Given the description of an element on the screen output the (x, y) to click on. 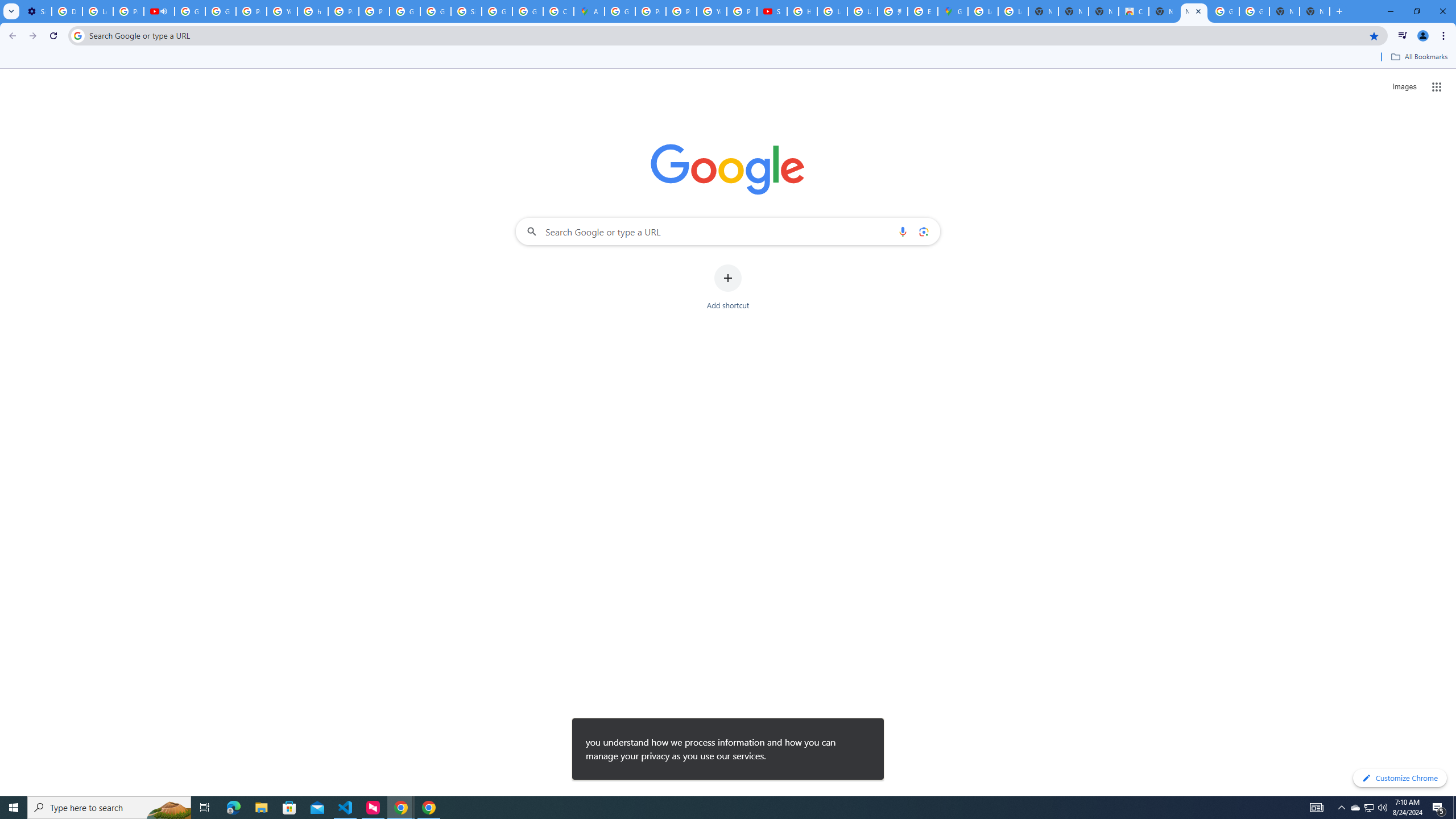
Create your Google Account (558, 11)
Mute tab (163, 10)
Bookmarks (728, 58)
Google Images (1254, 11)
